Given the description of an element on the screen output the (x, y) to click on. 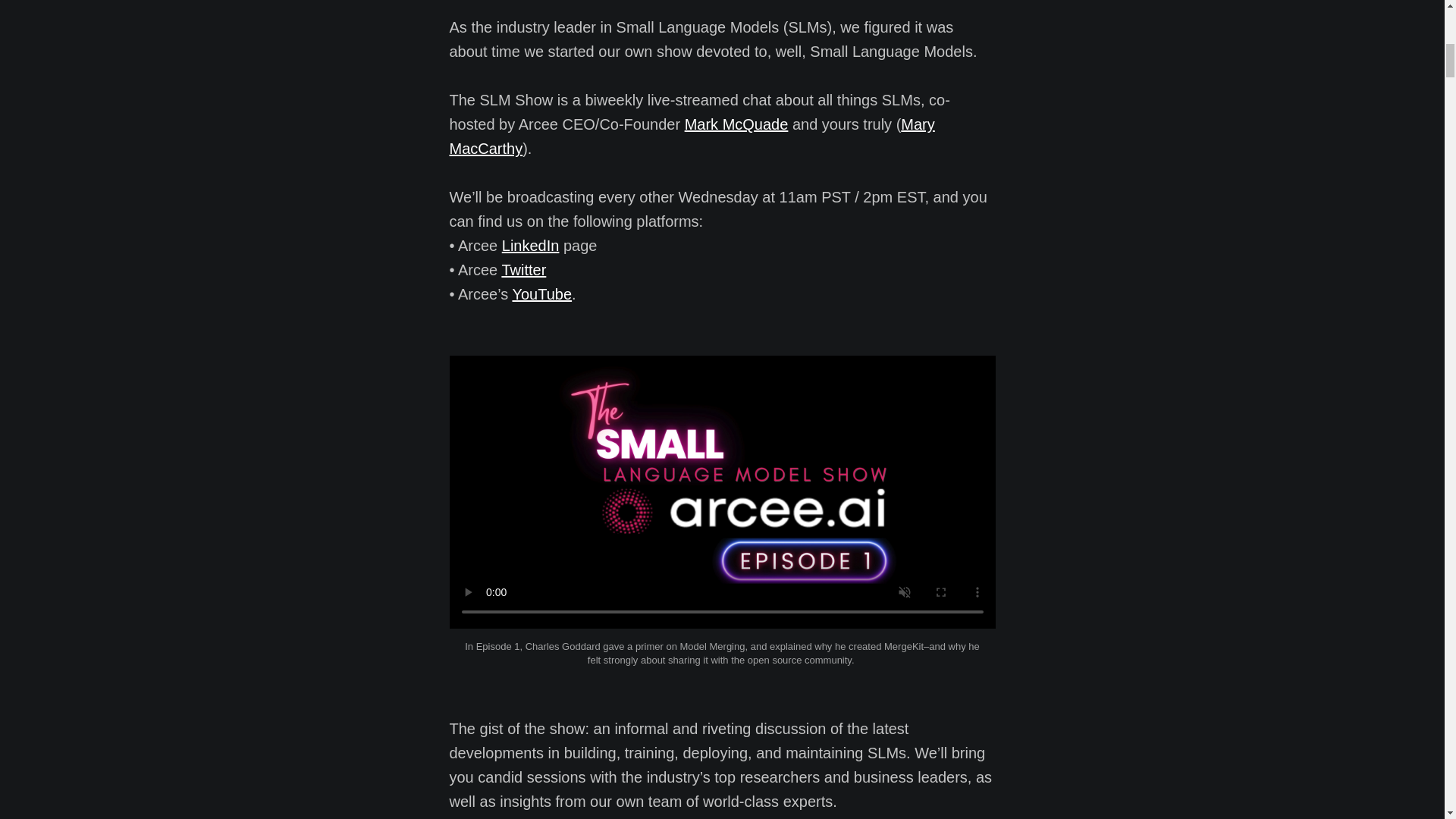
LinkedIn (530, 245)
YouTube (542, 293)
Twitter (523, 269)
Mark McQuade (736, 124)
Mary MacCarthy (691, 136)
